Given the description of an element on the screen output the (x, y) to click on. 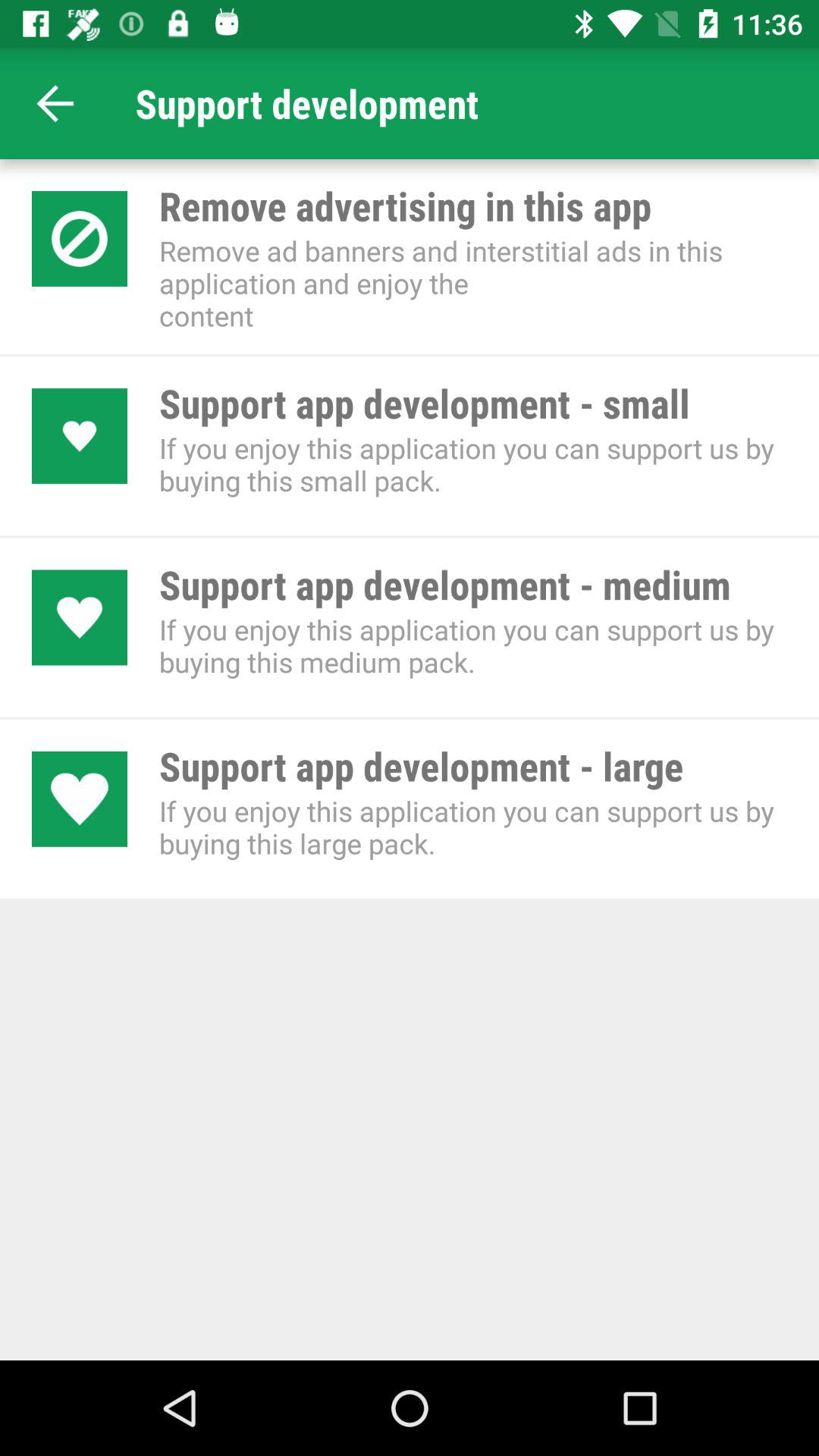
select item to the left of support development (55, 103)
